Given the description of an element on the screen output the (x, y) to click on. 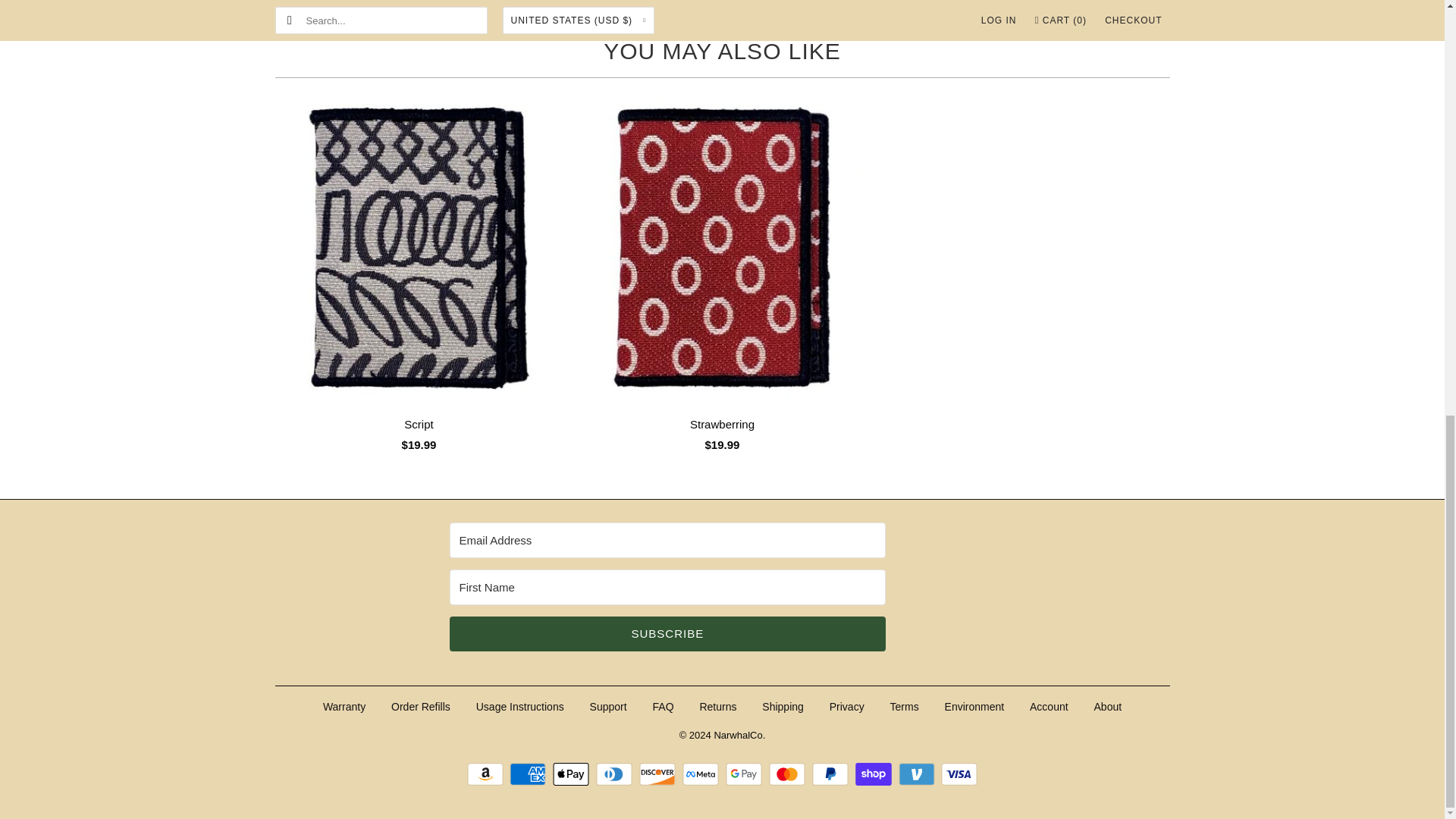
Shop Pay (875, 773)
Amazon (486, 773)
American Express (529, 773)
Mastercard (788, 773)
Visa (958, 773)
PayPal (831, 773)
Diners Club (615, 773)
Discover (659, 773)
Venmo (917, 773)
Meta Pay (702, 773)
Google Pay (745, 773)
Apple Pay (572, 773)
